Given the description of an element on the screen output the (x, y) to click on. 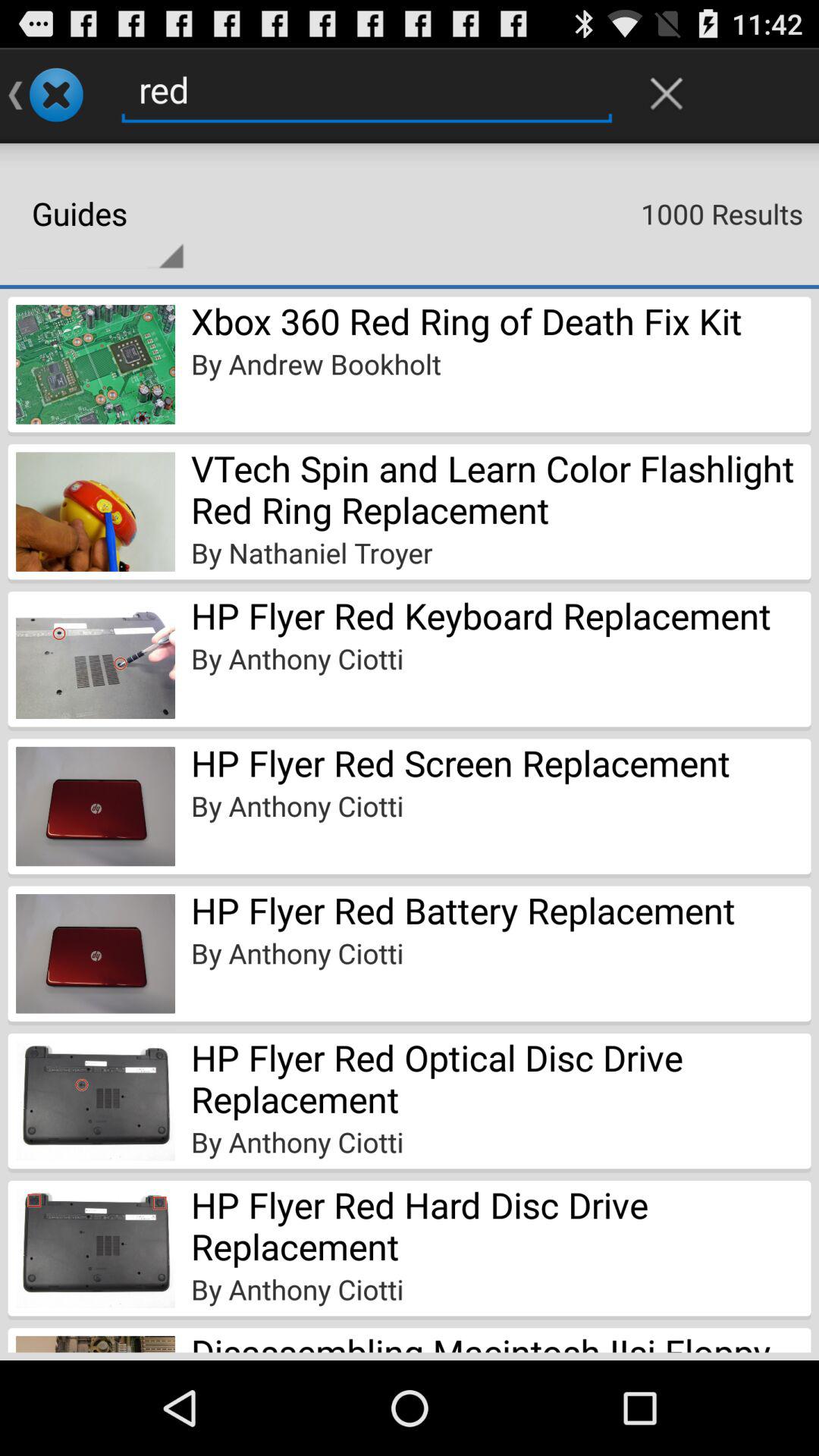
choose the app above hp flyer red (311, 552)
